Given the description of an element on the screen output the (x, y) to click on. 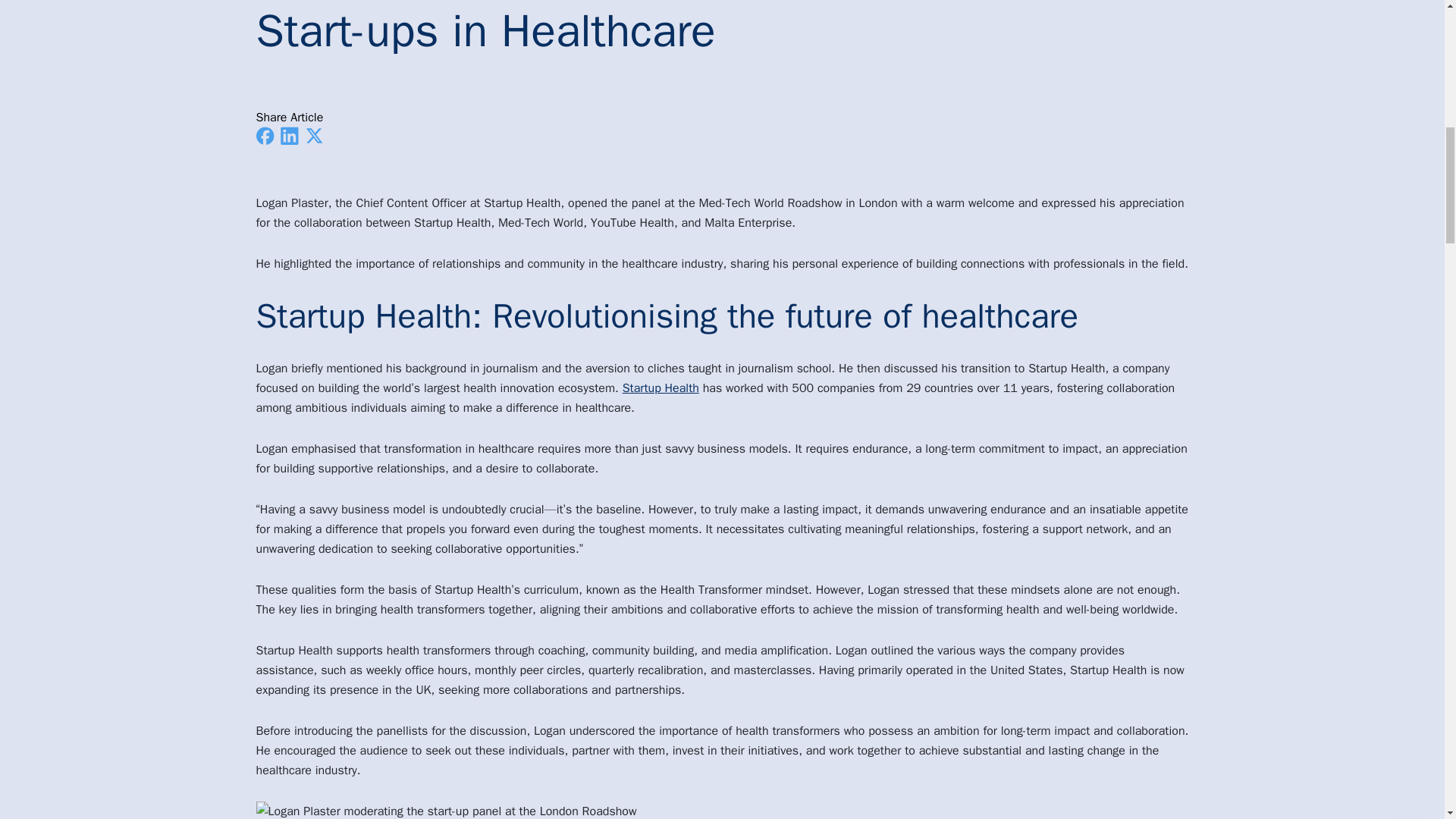
Startup Health (660, 387)
scroll to top (1405, 16)
